Given the description of an element on the screen output the (x, y) to click on. 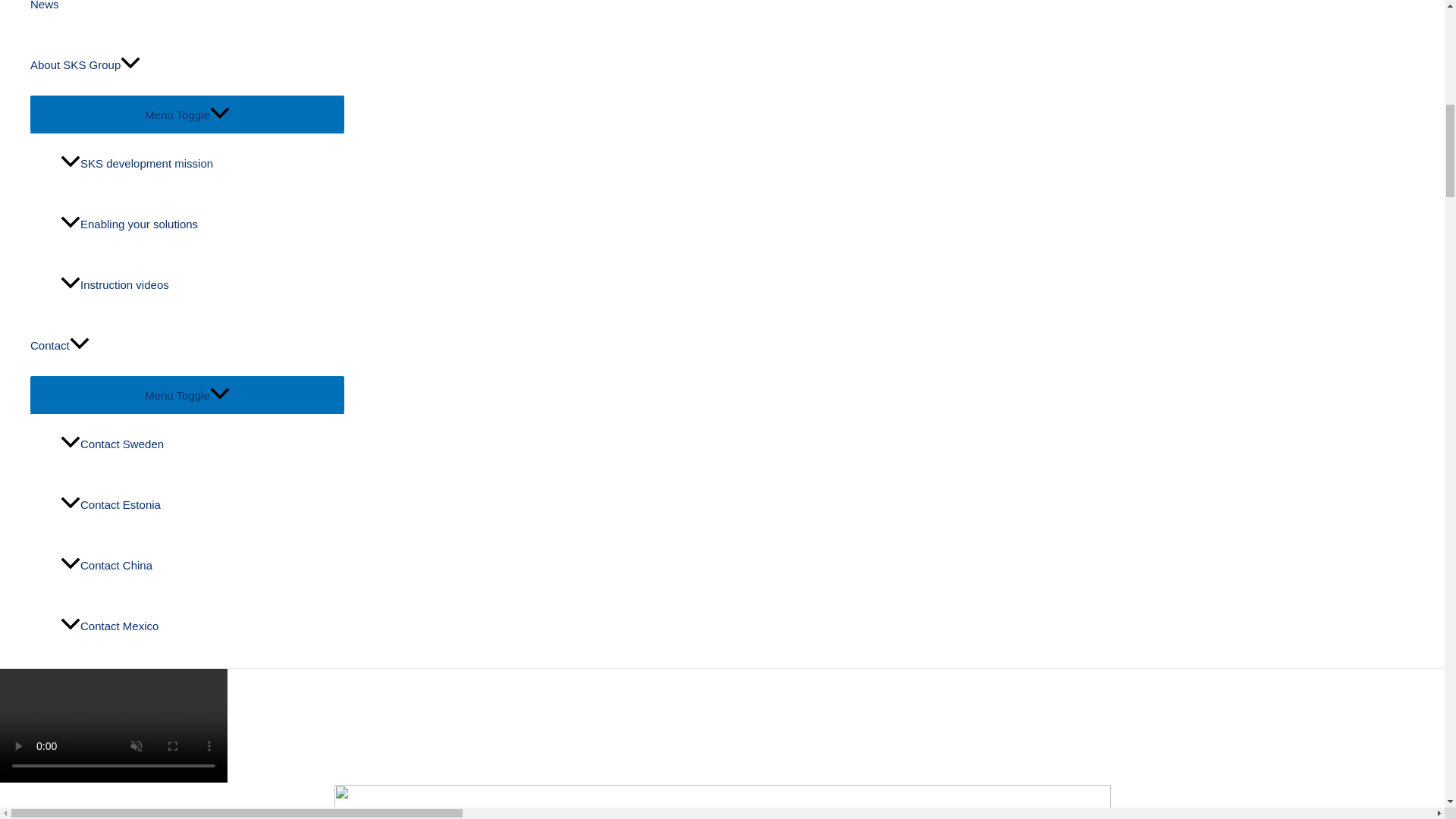
Menu Toggle (186, 393)
Contact Sweden (202, 444)
Contact (186, 345)
Contact Mexico (202, 626)
Enabling your solutions (202, 224)
News (186, 17)
Menu Toggle (186, 113)
About SKS Group (186, 65)
SKS development mission (202, 163)
Contact China (202, 565)
Instruction videos (202, 284)
Contact Estonia (202, 505)
